Given the description of an element on the screen output the (x, y) to click on. 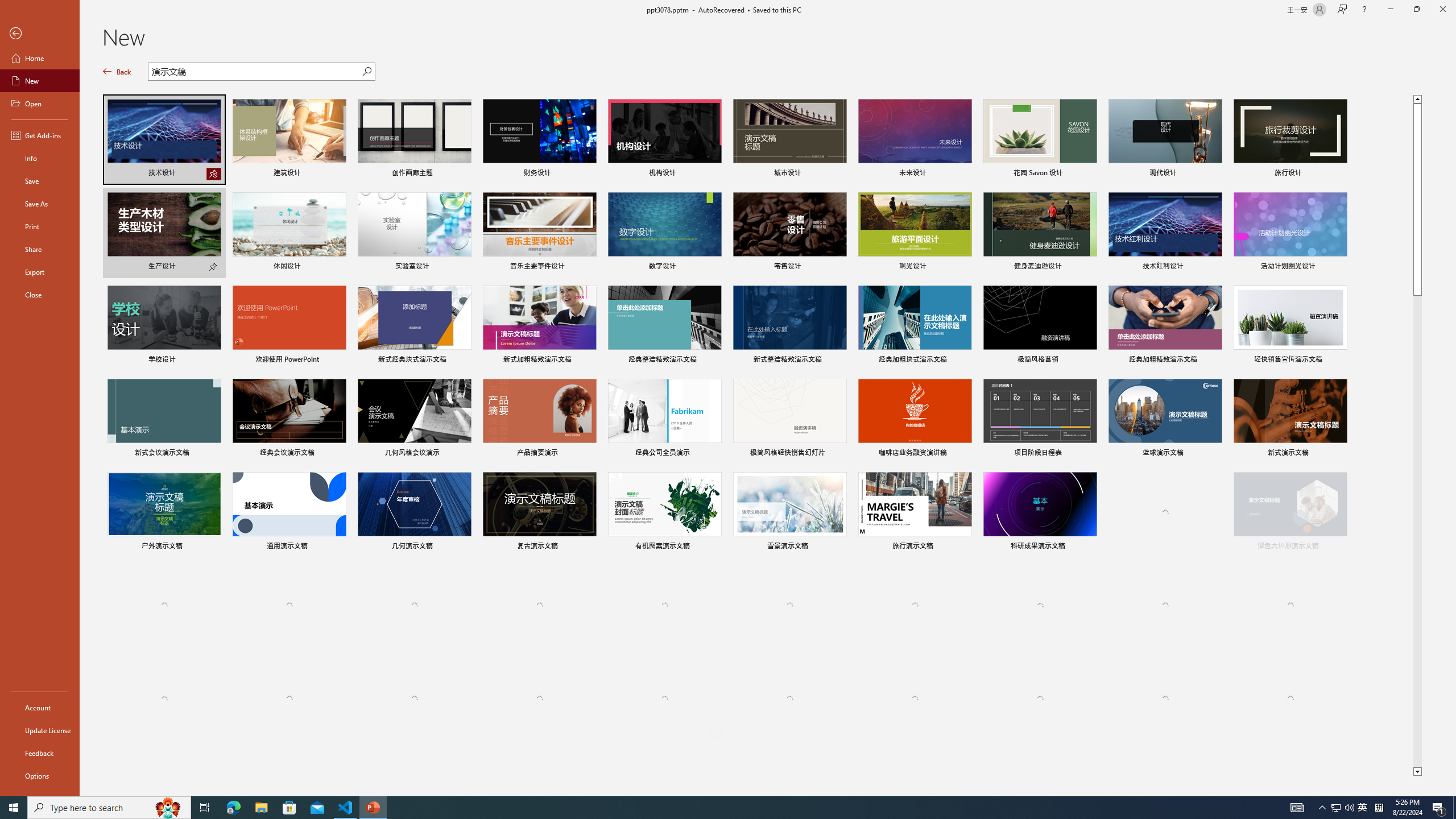
Unpin from list (714, 733)
Start searching (366, 71)
New (40, 80)
Back (40, 33)
